Given the description of an element on the screen output the (x, y) to click on. 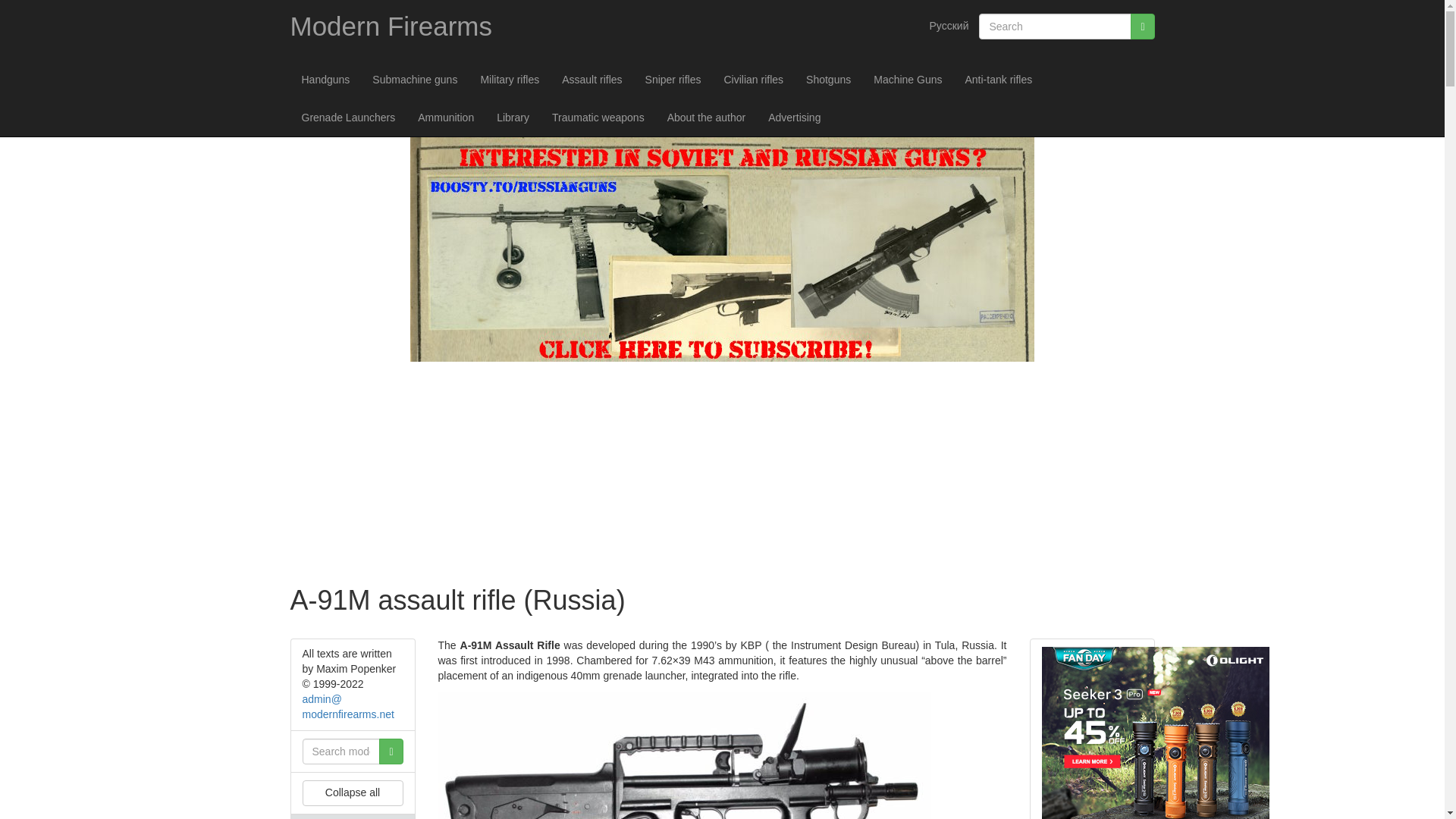
Grenade Launchers (347, 117)
Advertising (794, 117)
Modern Firearms (391, 26)
Library (512, 117)
Sniper rifles (673, 79)
Anti-tank rifles (998, 79)
Grenade Launchers (347, 117)
Civilian rifles (752, 79)
Military rifles (509, 79)
Submachine guns (414, 79)
